Given the description of an element on the screen output the (x, y) to click on. 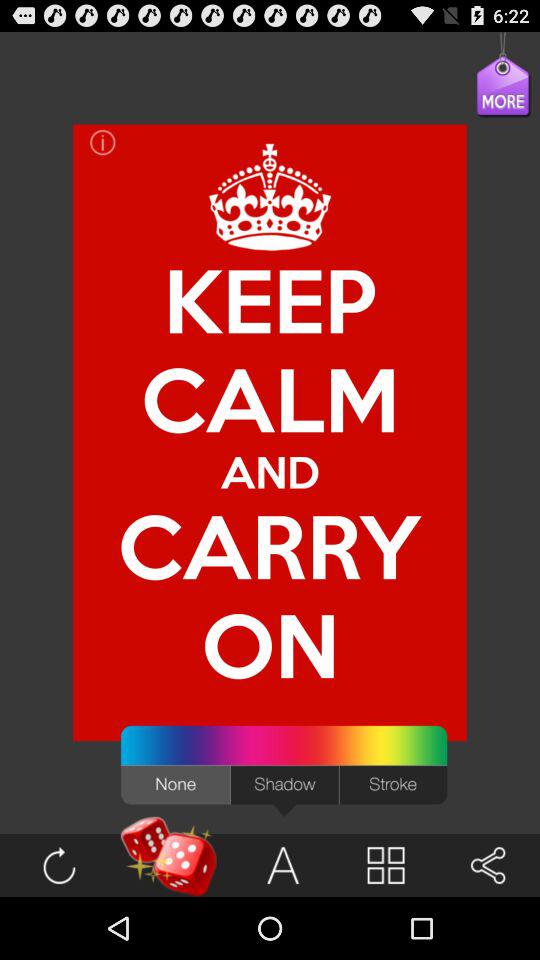
press icon above the carry item (269, 398)
